Given the description of an element on the screen output the (x, y) to click on. 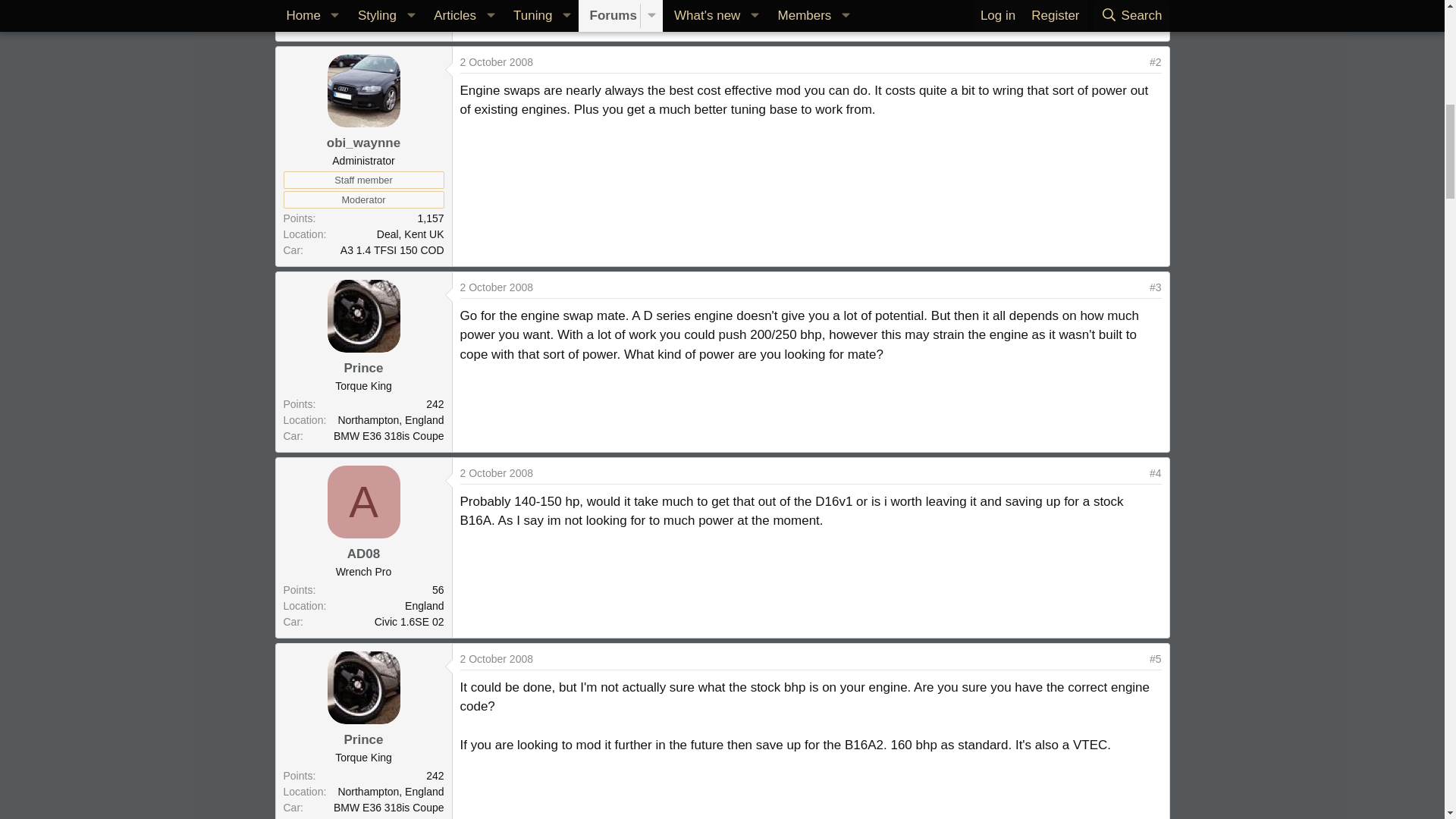
2 October 2008 at 14:21 (496, 472)
2 October 2008 at 12:03 (496, 61)
2 October 2008 at 14:00 (496, 287)
2 October 2008 at 14:26 (496, 658)
